Given the description of an element on the screen output the (x, y) to click on. 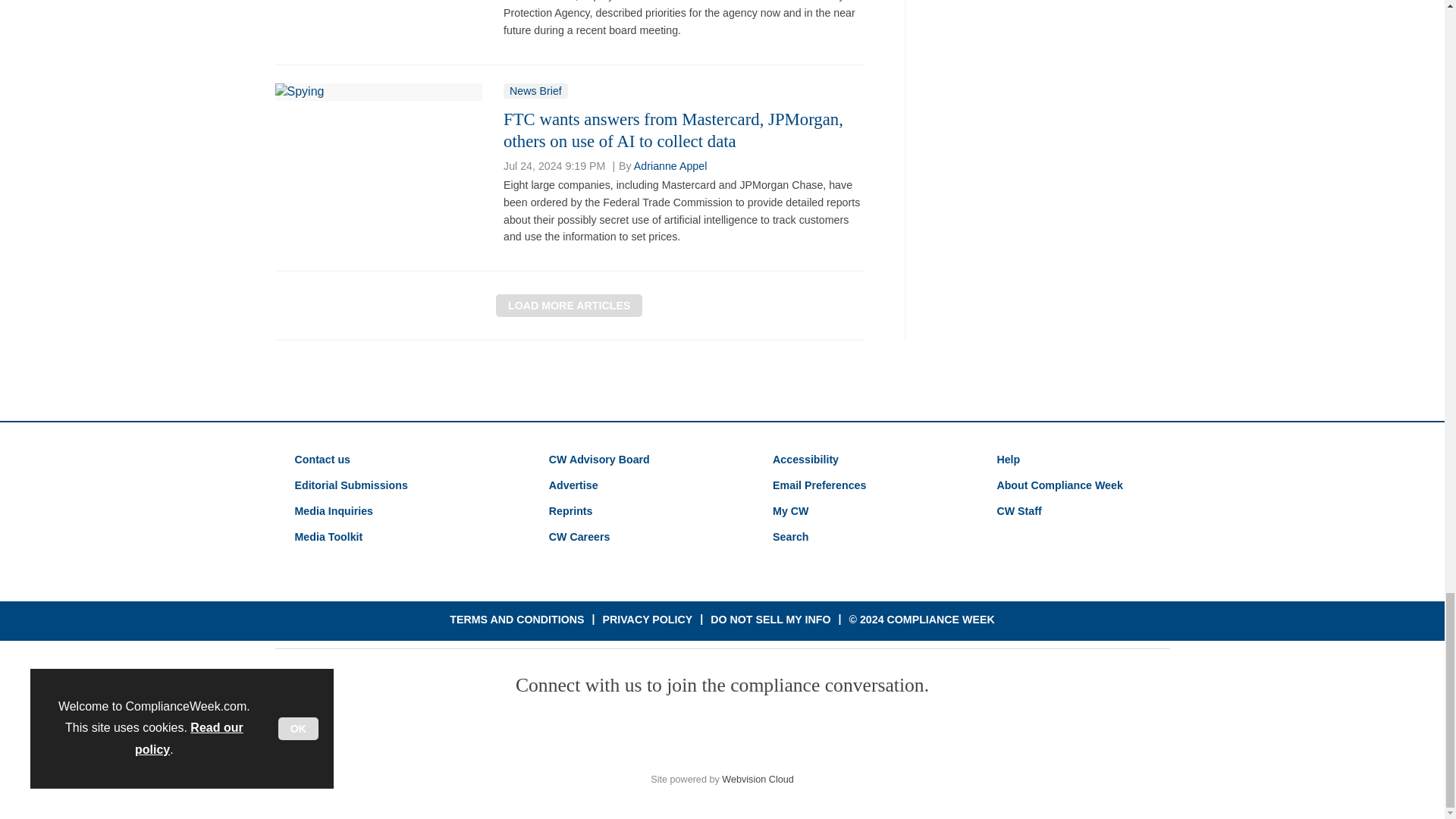
Email us (831, 733)
Connect with us on Twitter (667, 733)
Connect with us on Facebook (611, 733)
Connect with us on Instagram (776, 733)
Connect with us on Linked in (721, 733)
